Given the description of an element on the screen output the (x, y) to click on. 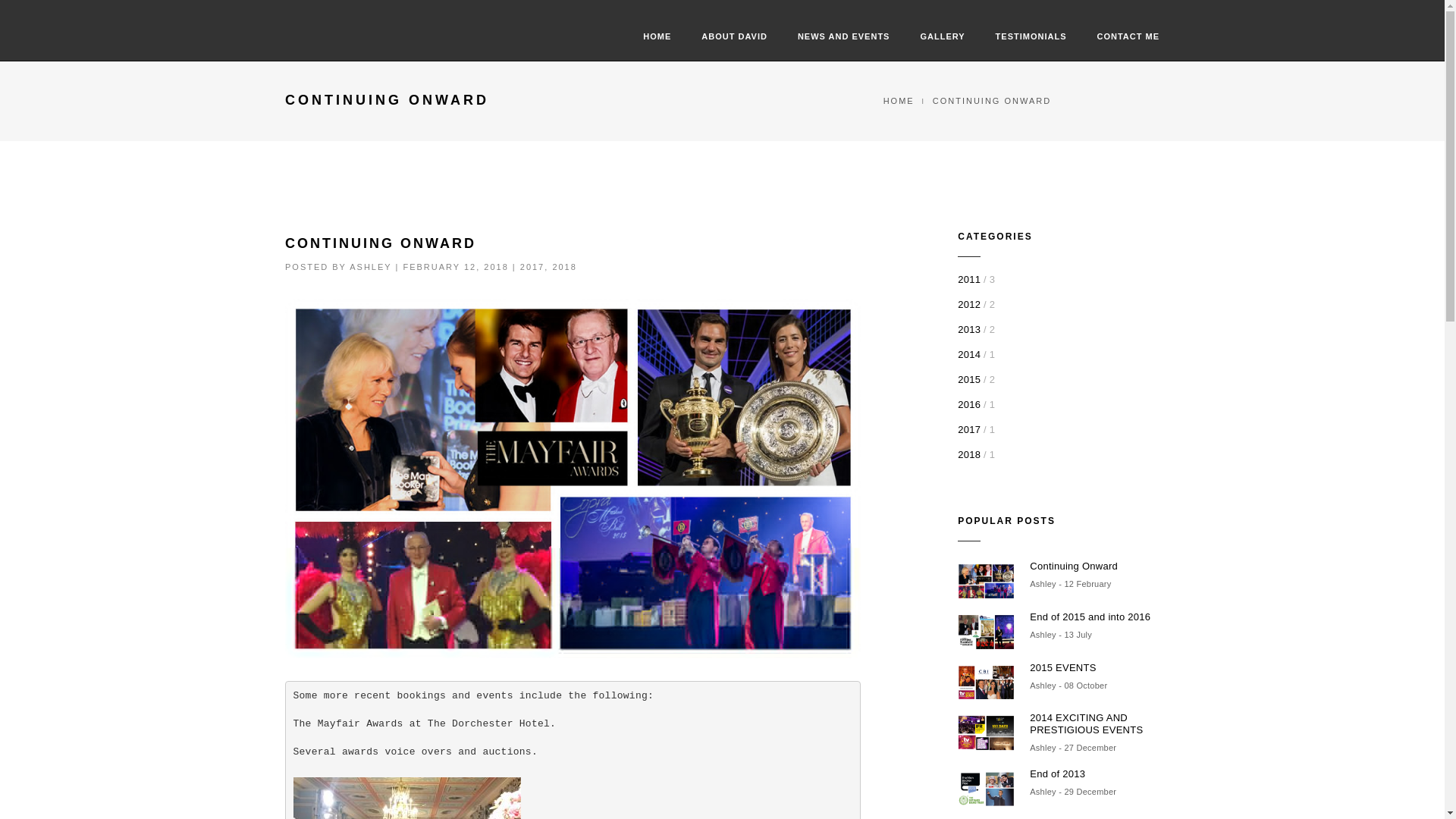
NEWS AND EVENTS (843, 37)
End of 2015 and into 2016 (1093, 616)
2012 (968, 304)
ABOUT DAVID (734, 37)
2018 (968, 454)
HOME (898, 100)
CONTACT ME (1127, 37)
2017 (531, 266)
2014 (968, 354)
2018 (563, 266)
